Given the description of an element on the screen output the (x, y) to click on. 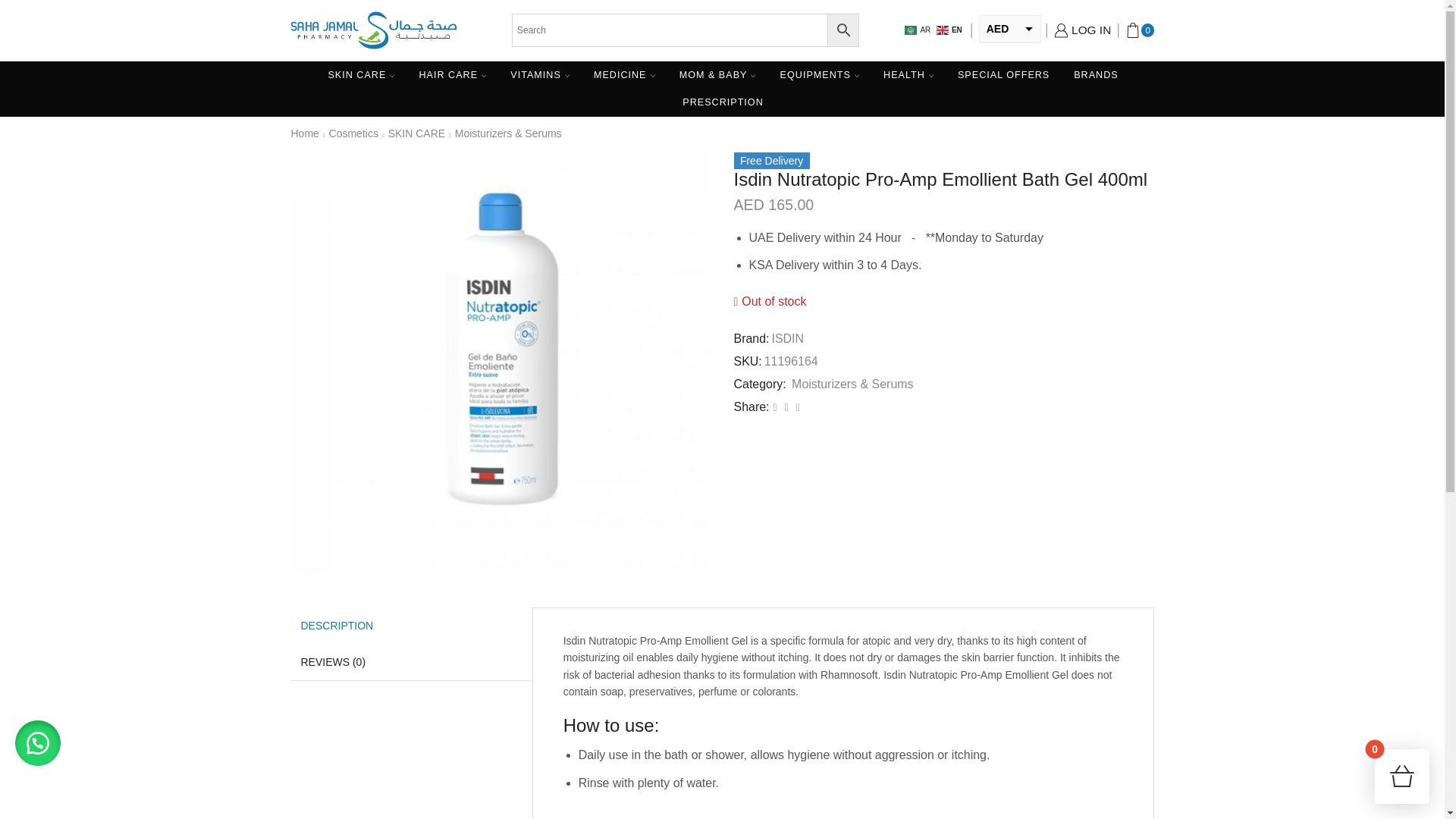
MEDICINE (624, 74)
Facebook (775, 407)
0 (1139, 30)
LOG IN (1083, 29)
Arabic (918, 29)
HAIR CARE (452, 74)
VITAMINS (540, 74)
English (949, 29)
AR (918, 29)
Mail to friend (786, 407)
EN (949, 29)
SKIN CARE (360, 74)
